Given the description of an element on the screen output the (x, y) to click on. 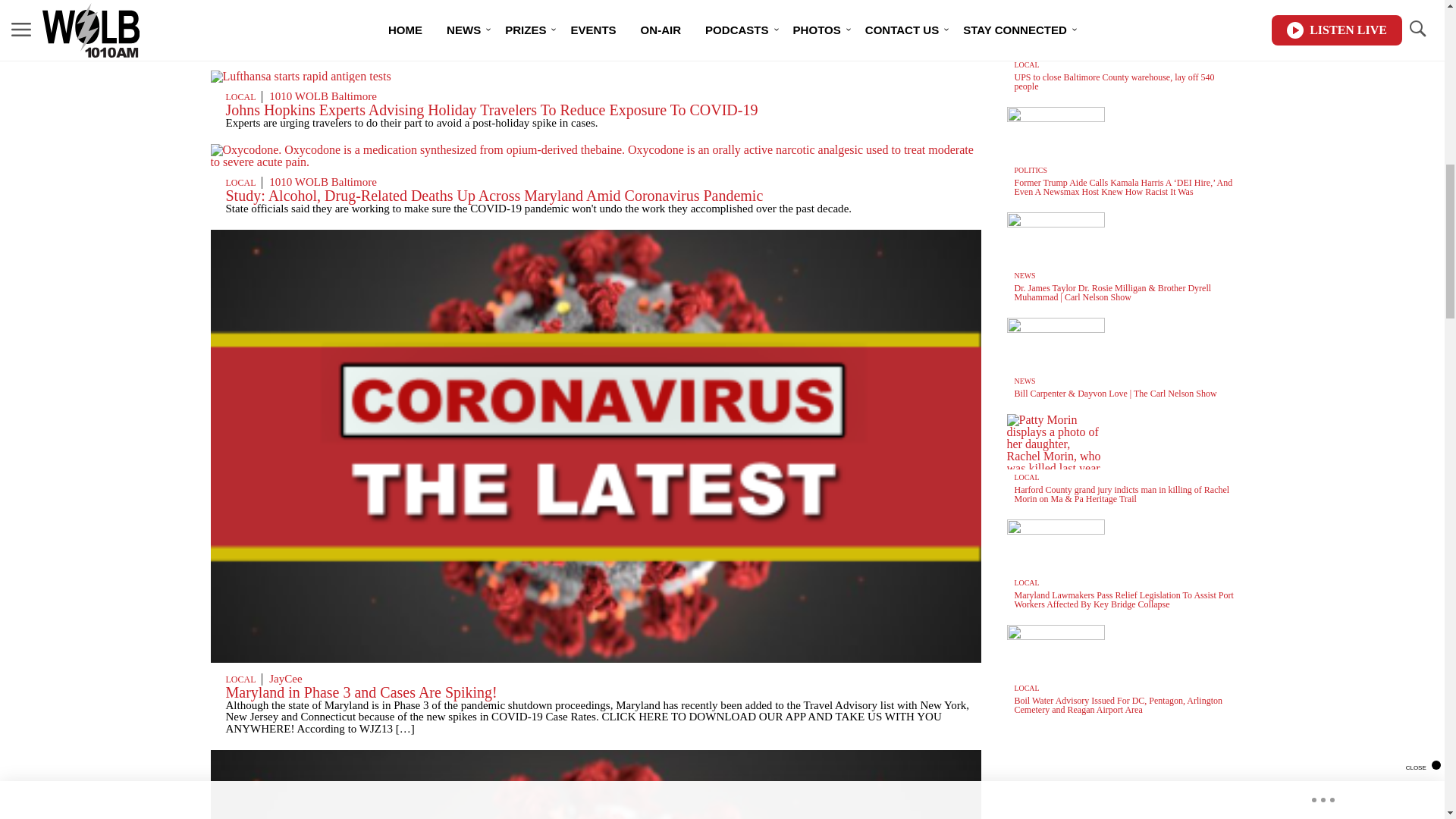
LOCAL (240, 23)
1010 WOLB Baltimore (323, 22)
LOCAL (240, 96)
1010 WOLB Baltimore (323, 96)
